Given the description of an element on the screen output the (x, y) to click on. 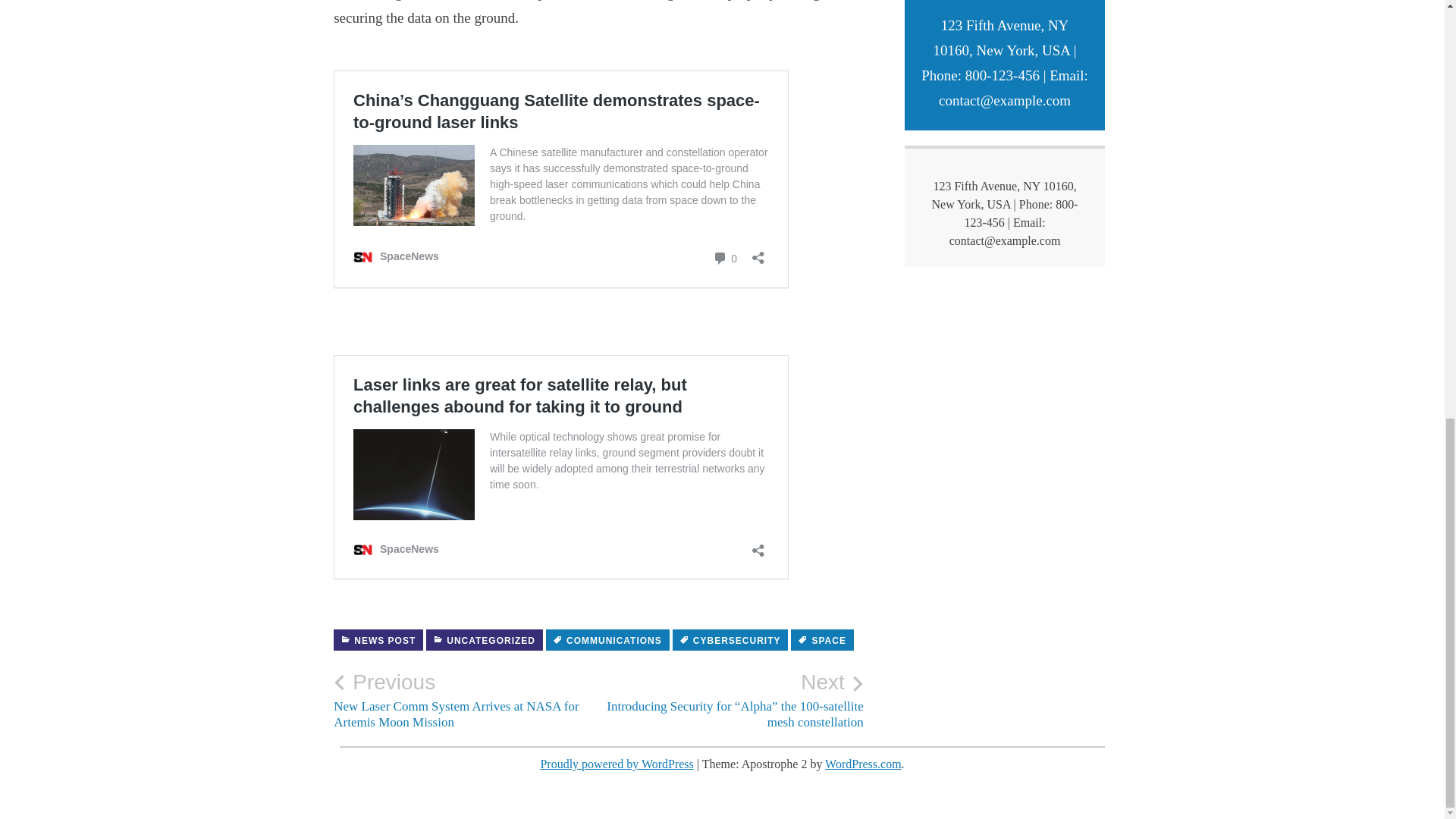
Proudly powered by WordPress (616, 763)
UNCATEGORIZED (484, 639)
WordPress.com (863, 763)
CYBERSECURITY (730, 639)
NEWS POST (378, 639)
COMMUNICATIONS (607, 639)
SPACE (821, 639)
